Given the description of an element on the screen output the (x, y) to click on. 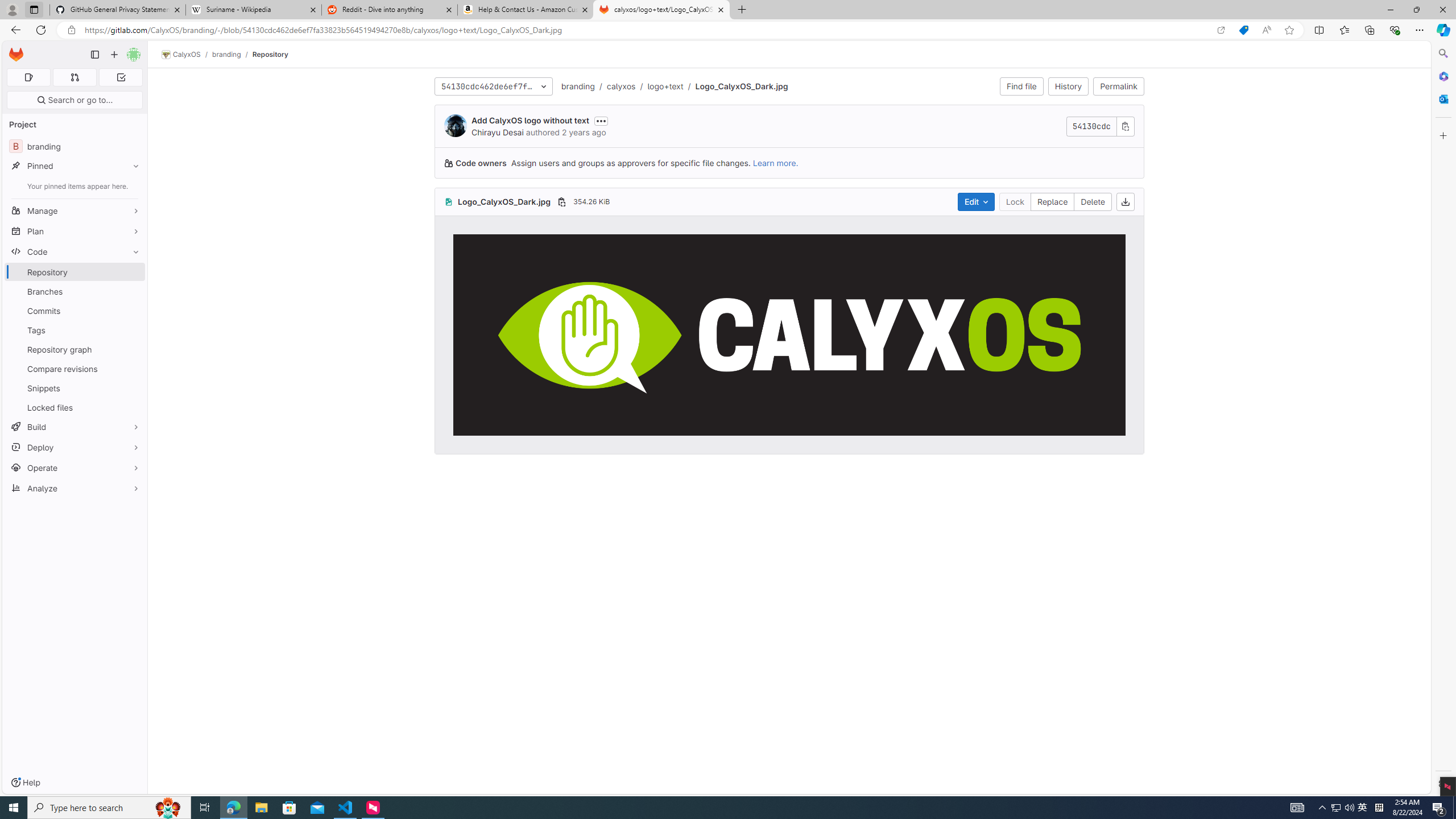
Pin Snippets (132, 387)
Chirayu Desai's avatar (455, 125)
Pin Repository (132, 272)
Compare revisions (74, 368)
CalyxOS/ (186, 54)
Pin Branches (132, 291)
/logo+text (659, 85)
Open in app (1220, 29)
